Given the description of an element on the screen output the (x, y) to click on. 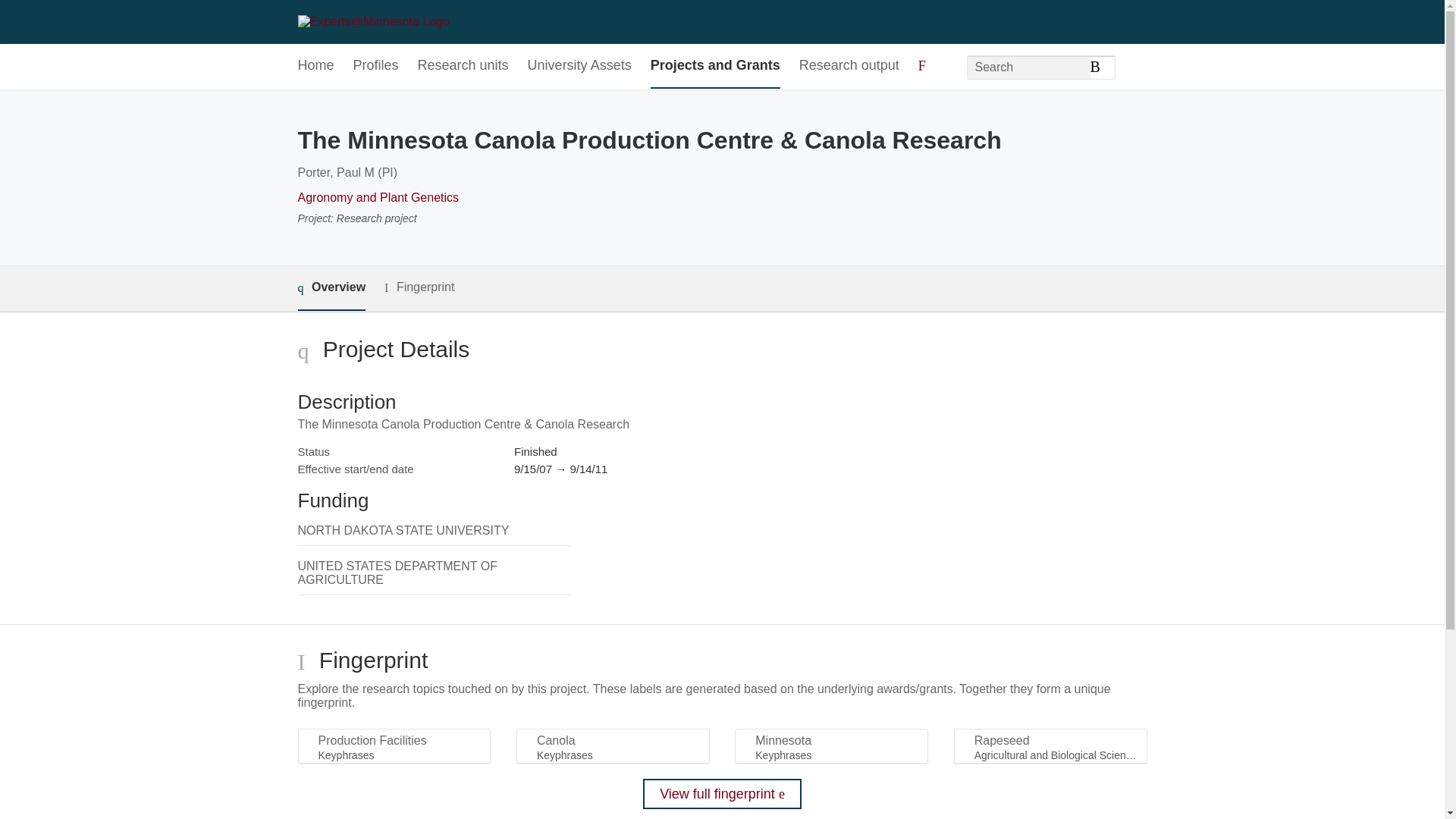
Profiles (375, 66)
Overview (331, 288)
Research units (462, 66)
View full fingerprint (722, 793)
Fingerprint (419, 287)
Projects and Grants (715, 66)
Agronomy and Plant Genetics (377, 196)
University Assets (579, 66)
Home (315, 66)
Research output (849, 66)
